Given the description of an element on the screen output the (x, y) to click on. 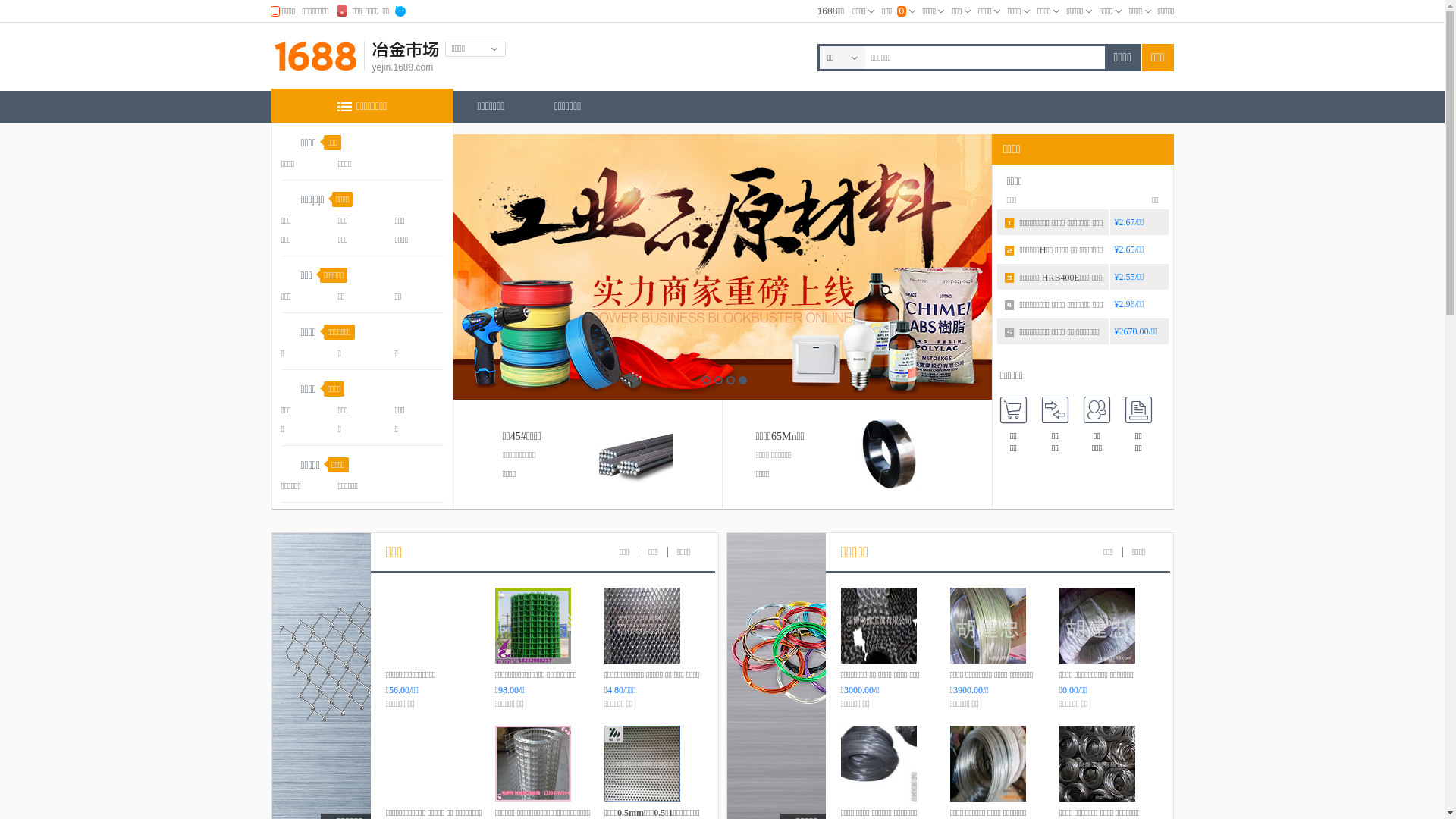
yejin.1688.com Element type: text (402, 67)
